Given the description of an element on the screen output the (x, y) to click on. 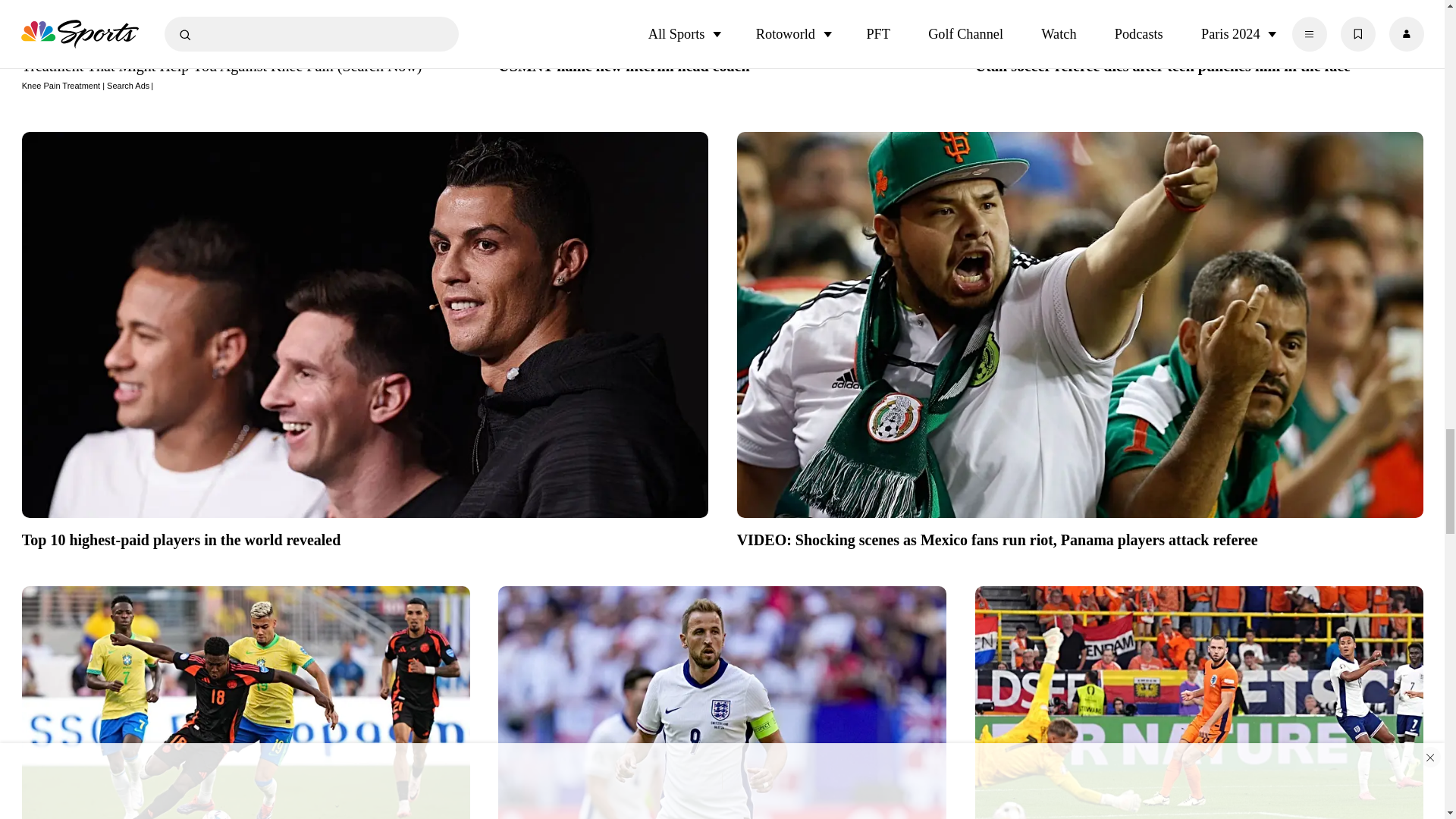
Top 10 highest-paid players in the world revealed (364, 537)
Utah soccer referee dies after teen punches him in the face (1199, 64)
USMNT name new interim head coach (721, 64)
